Given the description of an element on the screen output the (x, y) to click on. 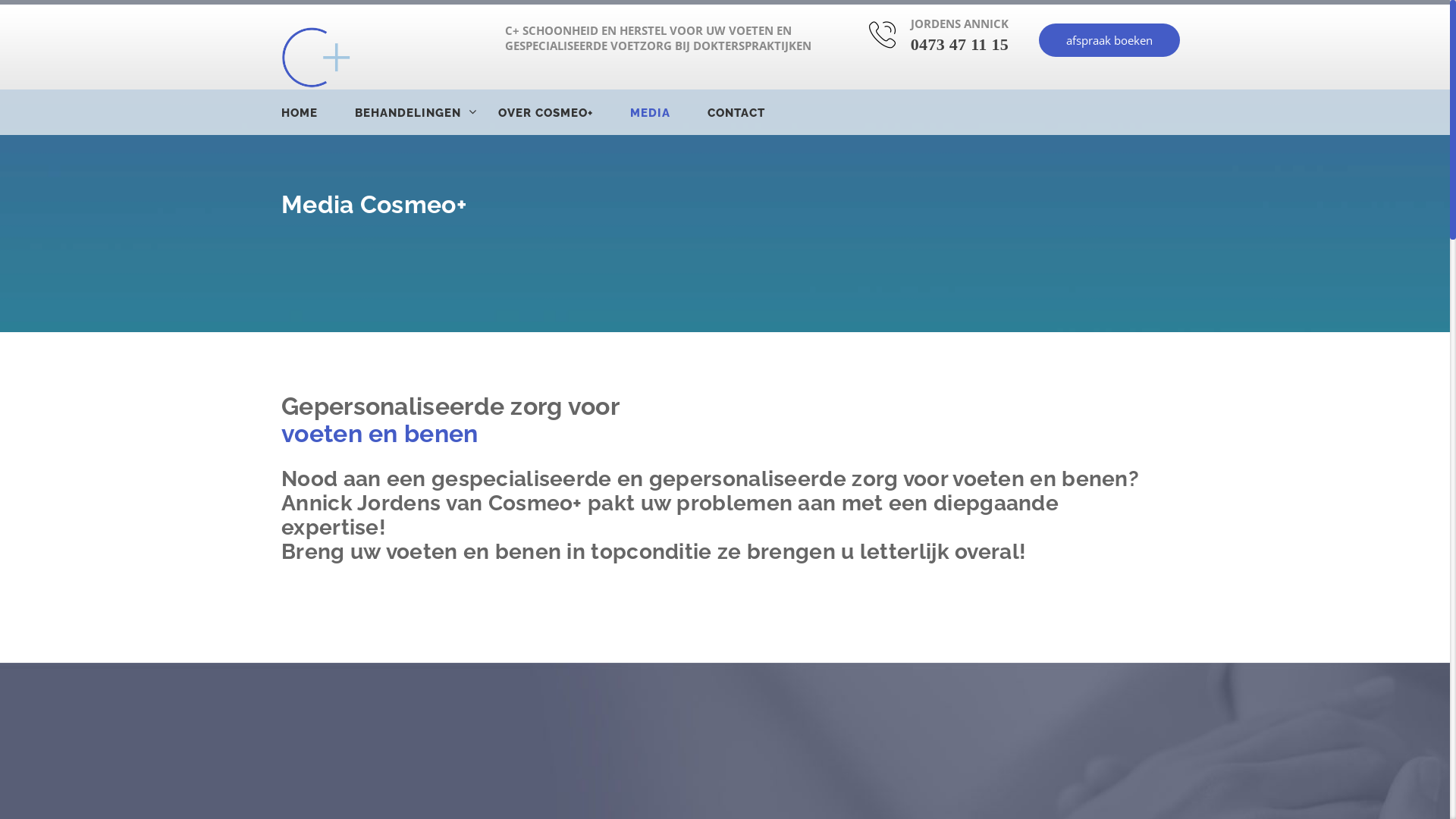
0473 47 11 15 Element type: text (959, 43)
OVER COSMEO+ Element type: text (562, 112)
BEHANDELINGEN Element type: text (424, 112)
MEDIA Element type: text (667, 112)
CONTACT Element type: text (753, 112)
Cosmeoplus care cosmetics voetverzorging pedicure Element type: hover (316, 57)
HOME Element type: text (316, 112)
afspraak boeken Element type: text (1108, 39)
